Given the description of an element on the screen output the (x, y) to click on. 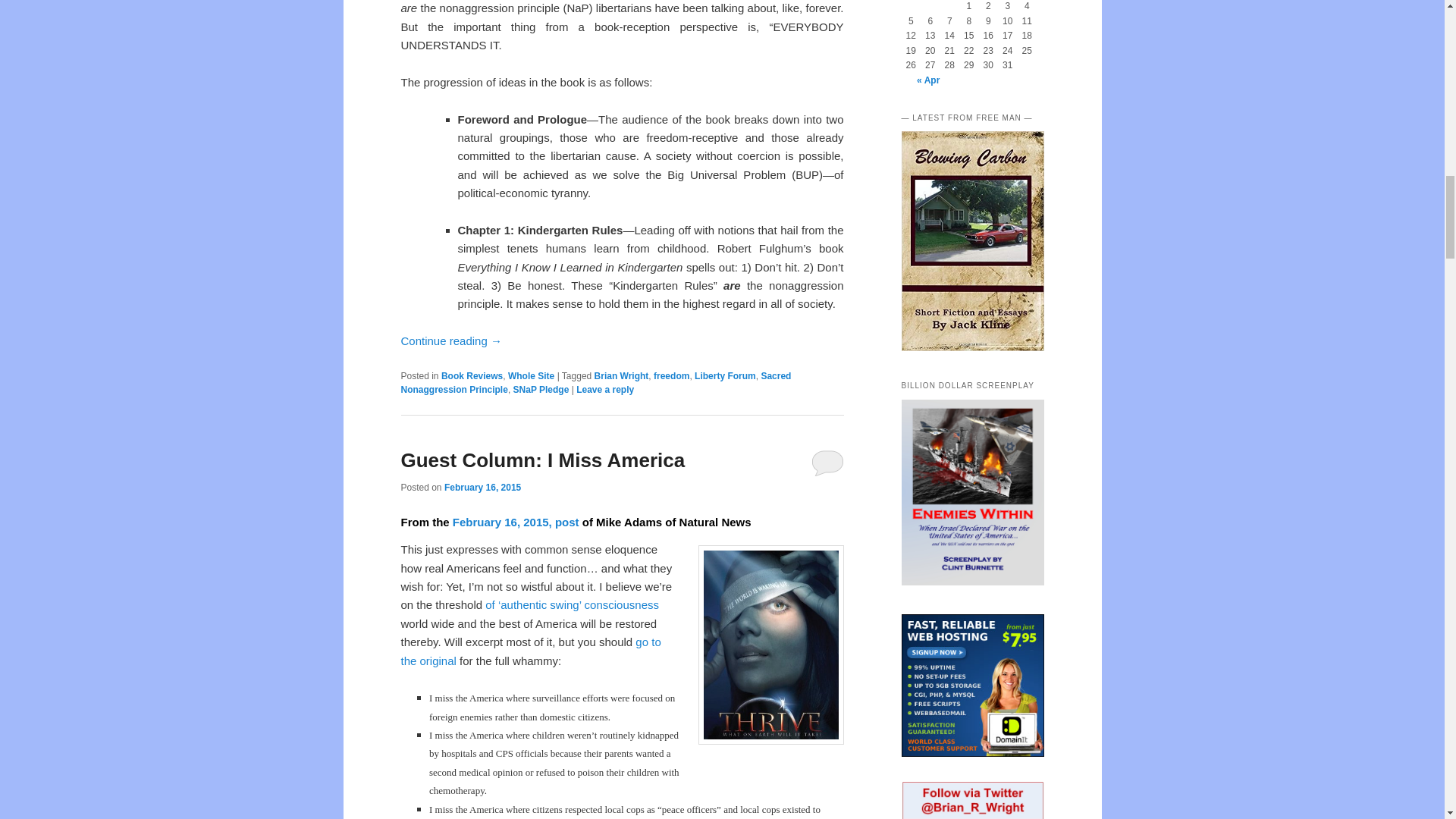
13:52 (482, 487)
